Given the description of an element on the screen output the (x, y) to click on. 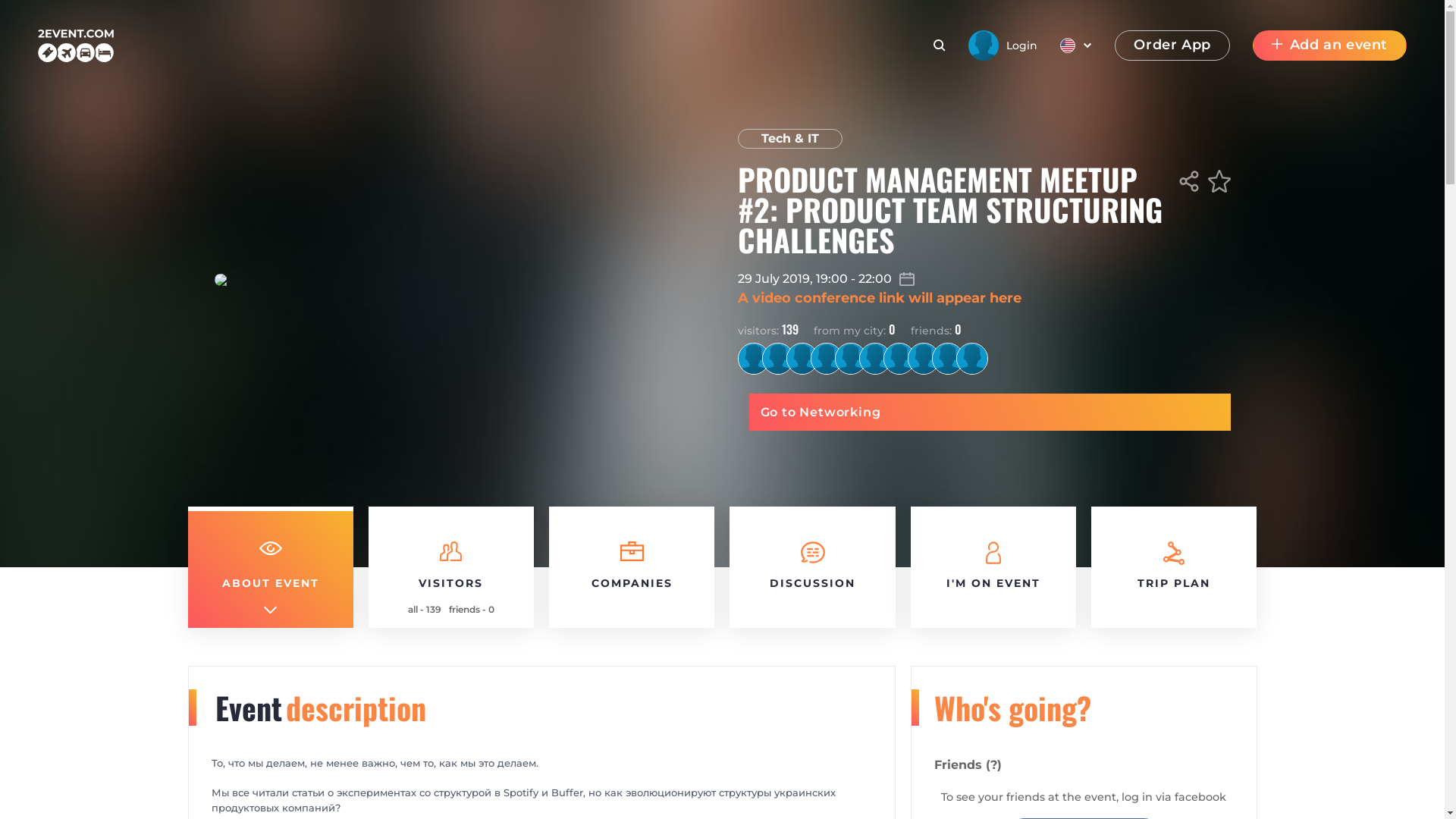
Login Element type: text (1002, 45)
Go to Networking Element type: text (989, 411)
VISITORS
all - 139friends - 0 Element type: text (450, 566)
TRIP PLAN Element type: text (1173, 566)
COMPANIES Element type: text (631, 566)
29 July 2019, 19:00 - 22:00 Element type: text (983, 278)
from my city: 0 Element type: text (853, 329)
I'M ON EVENT Element type: text (993, 566)
Who's going? Element type: text (1012, 707)
Add an event Element type: text (1329, 45)
visitors: 139 Element type: text (767, 329)
friends: 0 Element type: text (935, 329)
DISCUSSION Element type: text (811, 566)
Order App Element type: text (1171, 45)
Tech & IT Element type: text (789, 138)
